Given the description of an element on the screen output the (x, y) to click on. 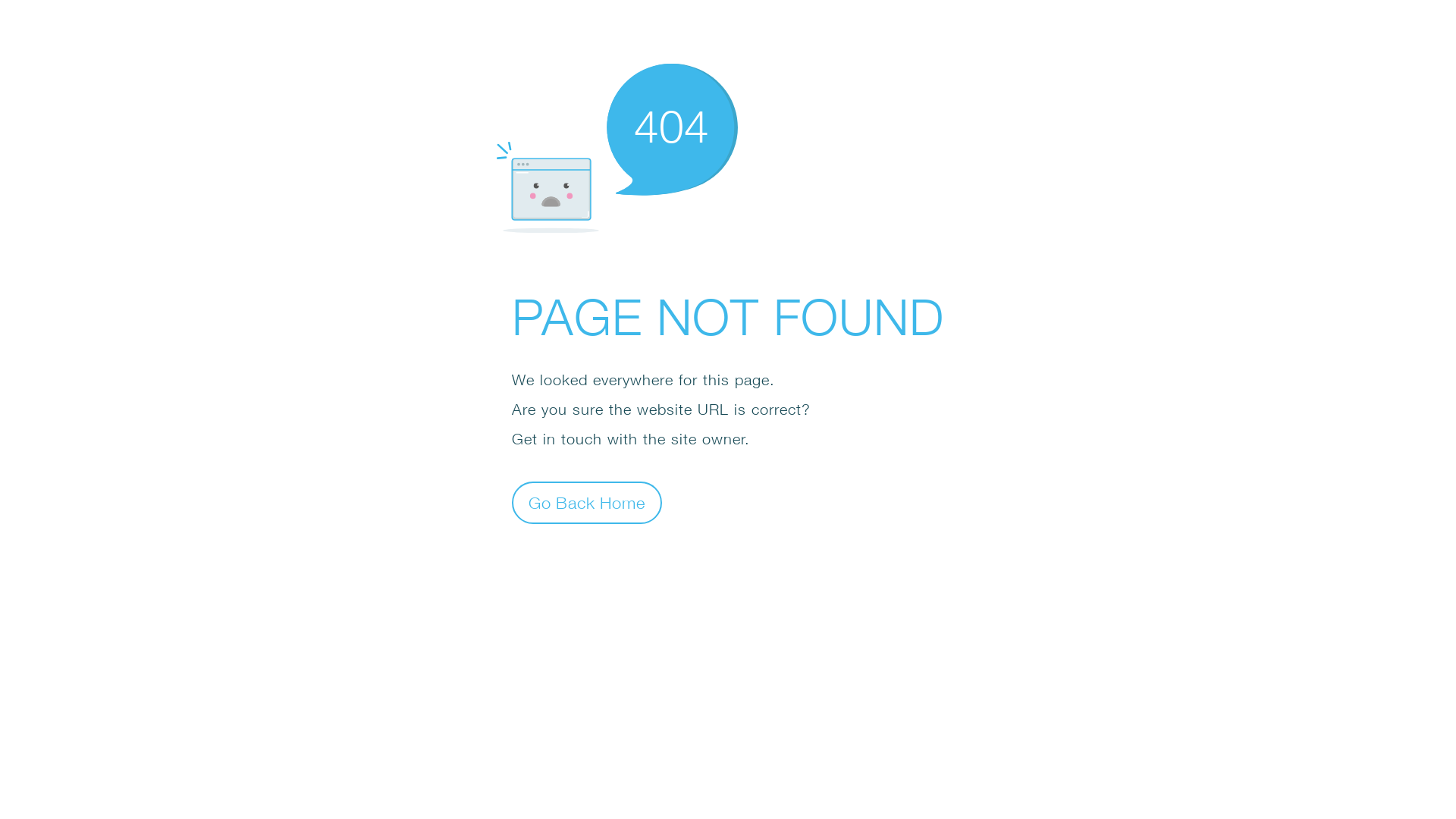
Go Back Home Element type: text (586, 502)
